Given the description of an element on the screen output the (x, y) to click on. 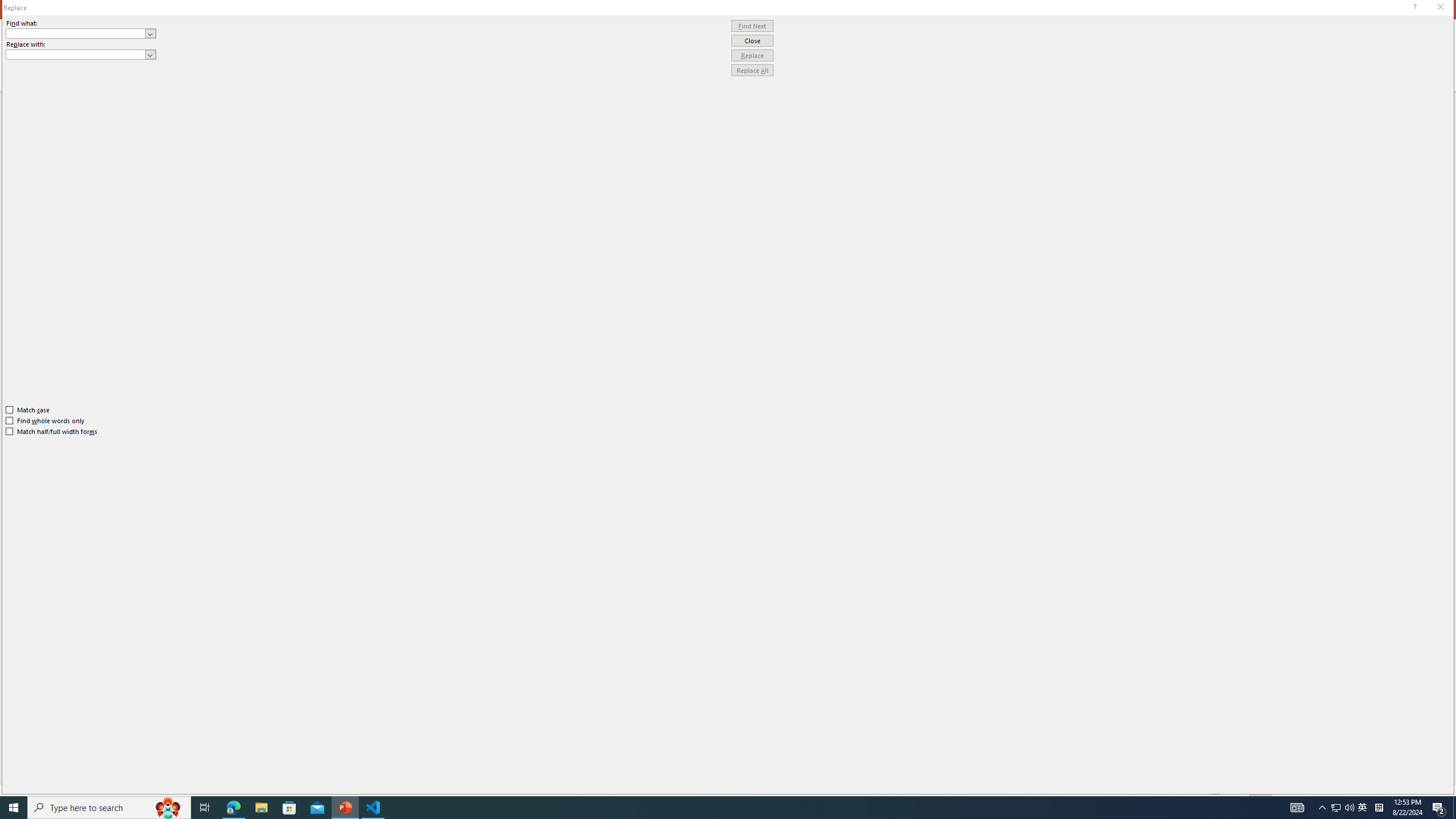
Replace All (752, 69)
